Given the description of an element on the screen output the (x, y) to click on. 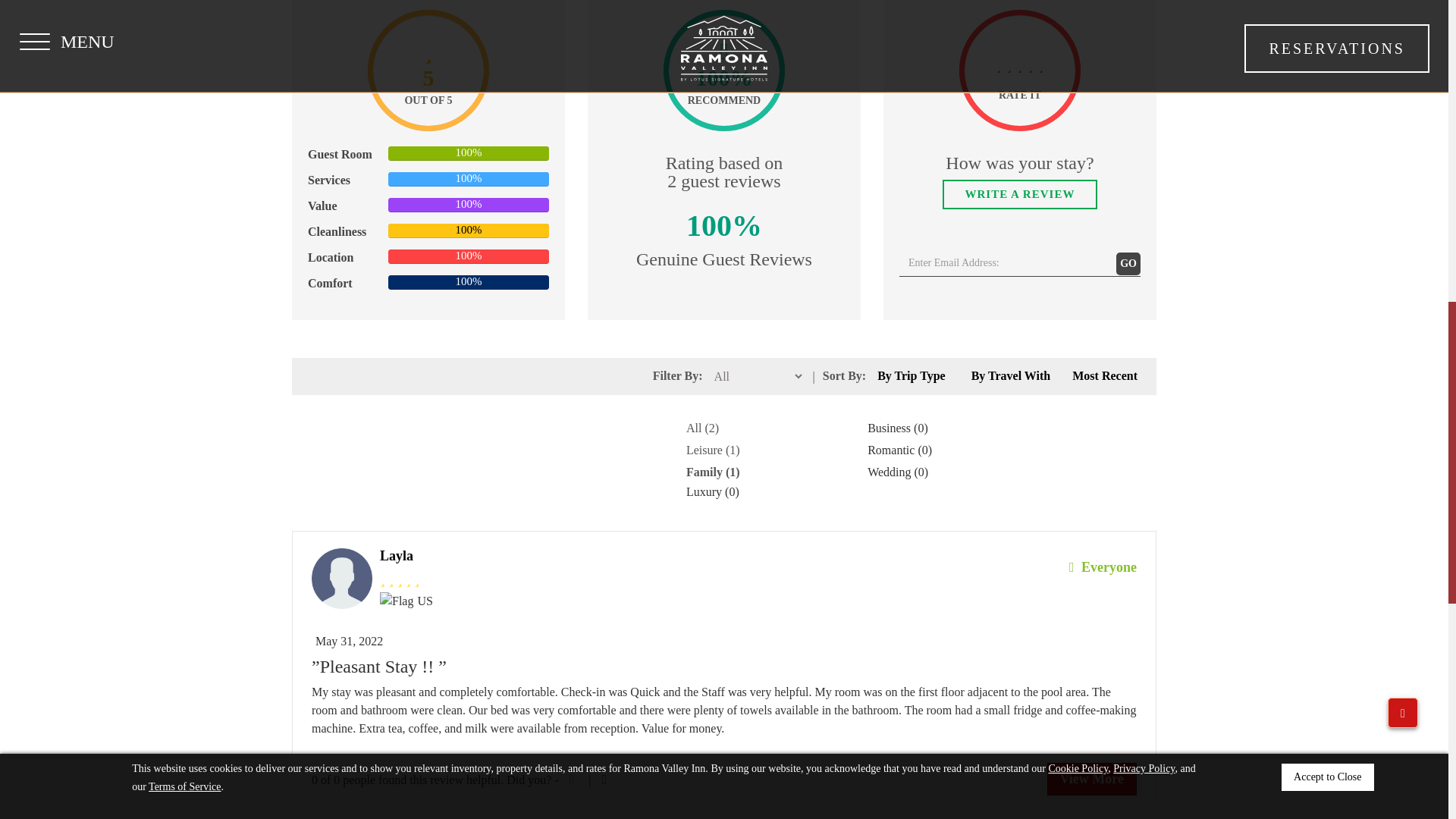
WRITE A REVIEW (1019, 194)
GO (1128, 263)
Most Recent (1104, 376)
By Travel With (1010, 376)
By Trip Type (911, 376)
